Given the description of an element on the screen output the (x, y) to click on. 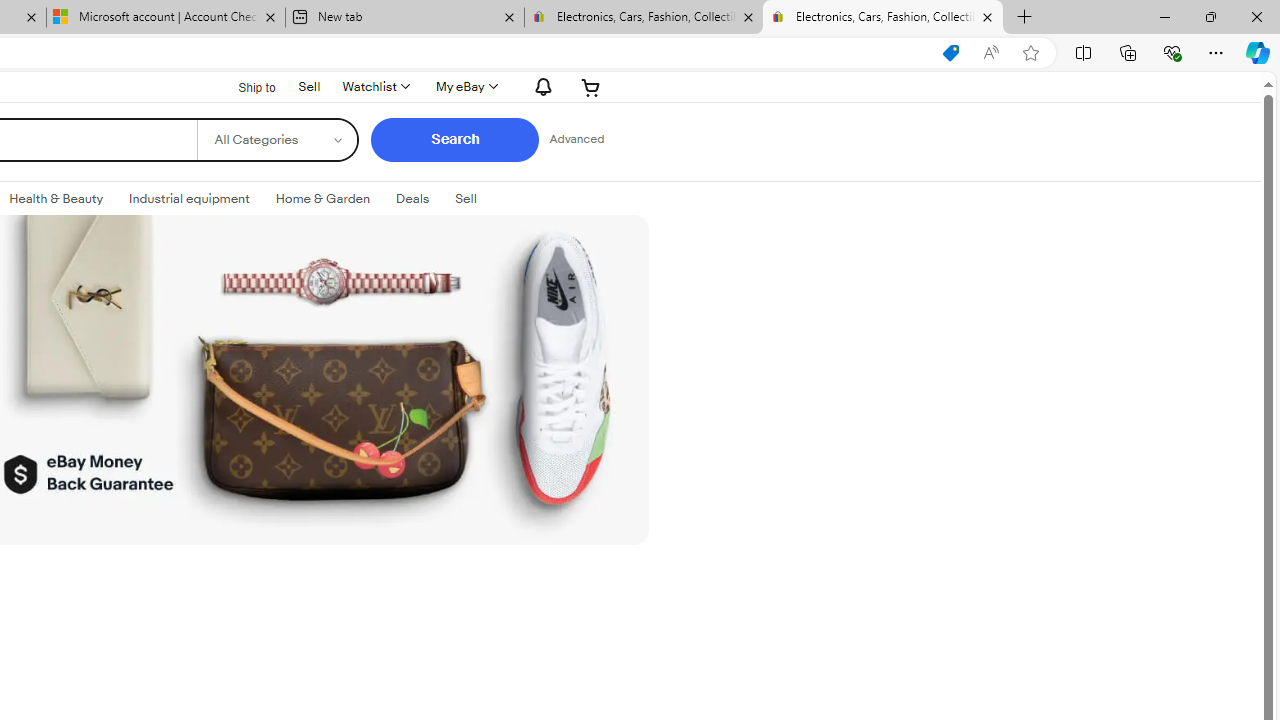
Advanced Search (576, 139)
Ship to (244, 87)
Watchlist (374, 86)
AutomationID: gh-eb-Alerts (540, 86)
My eBay (464, 86)
